Given the description of an element on the screen output the (x, y) to click on. 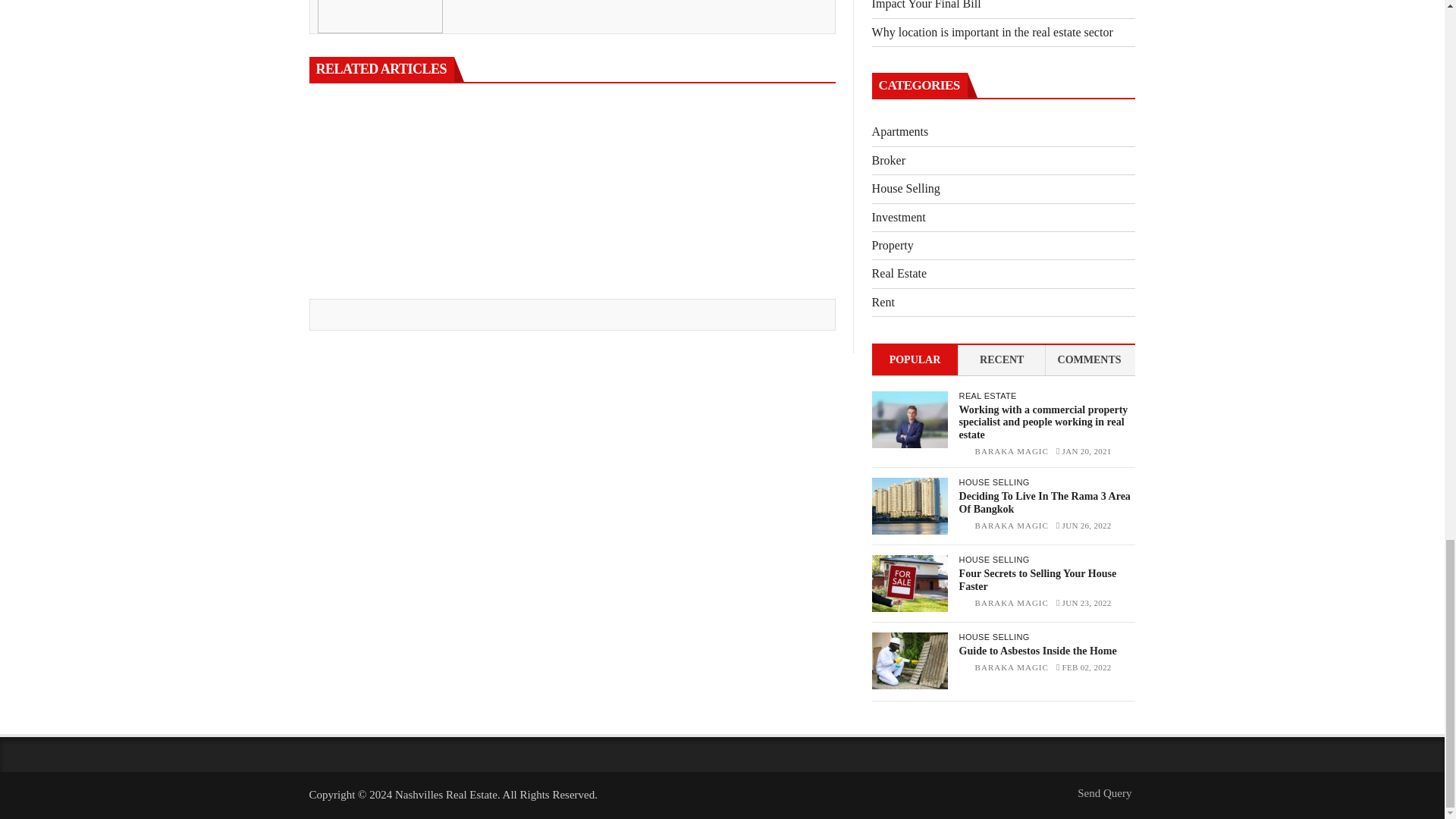
Posts by Baraka Magic (1011, 450)
Deciding To Live In The Rama 3 Area Of Bangkok (909, 505)
